Given the description of an element on the screen output the (x, y) to click on. 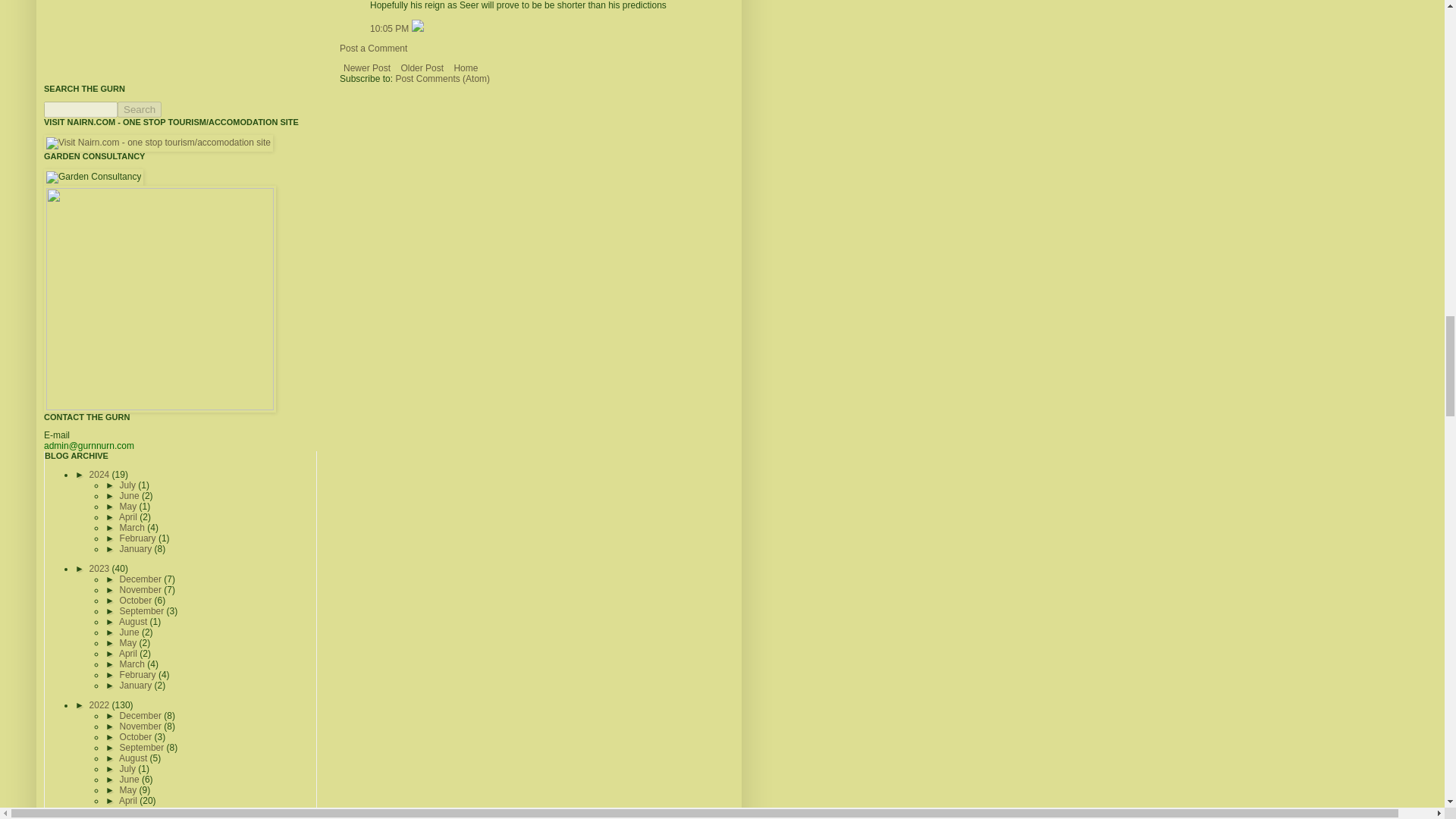
Search (139, 109)
Newer Post (366, 67)
Home (465, 67)
Post a Comment (373, 48)
Search (139, 109)
10:05 PM (390, 28)
Older Post (421, 67)
